Given the description of an element on the screen output the (x, y) to click on. 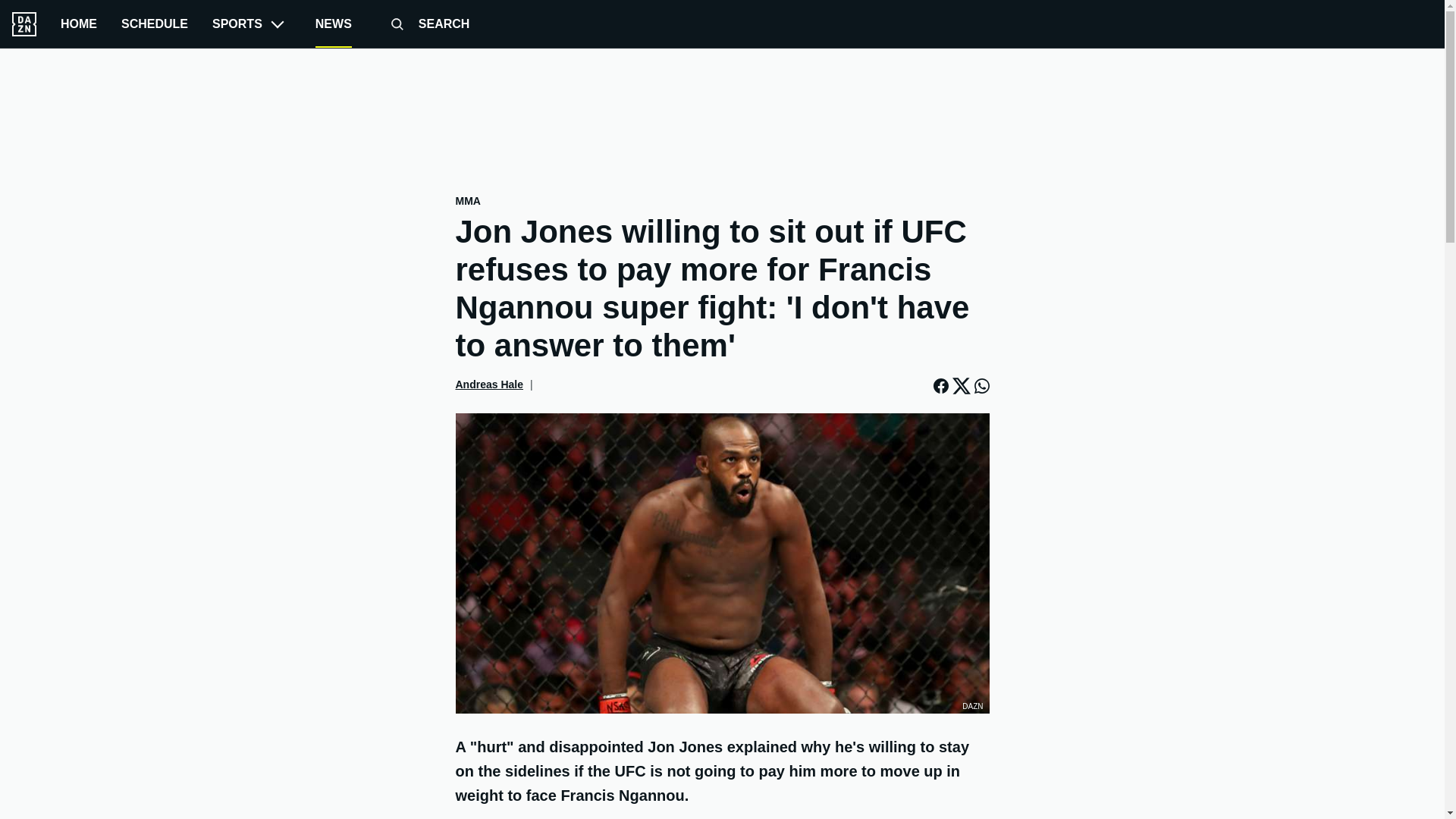
Andreas Hale (488, 384)
SCHEDULE (153, 23)
SPORTS (251, 23)
SEARCH (422, 23)
